Given the description of an element on the screen output the (x, y) to click on. 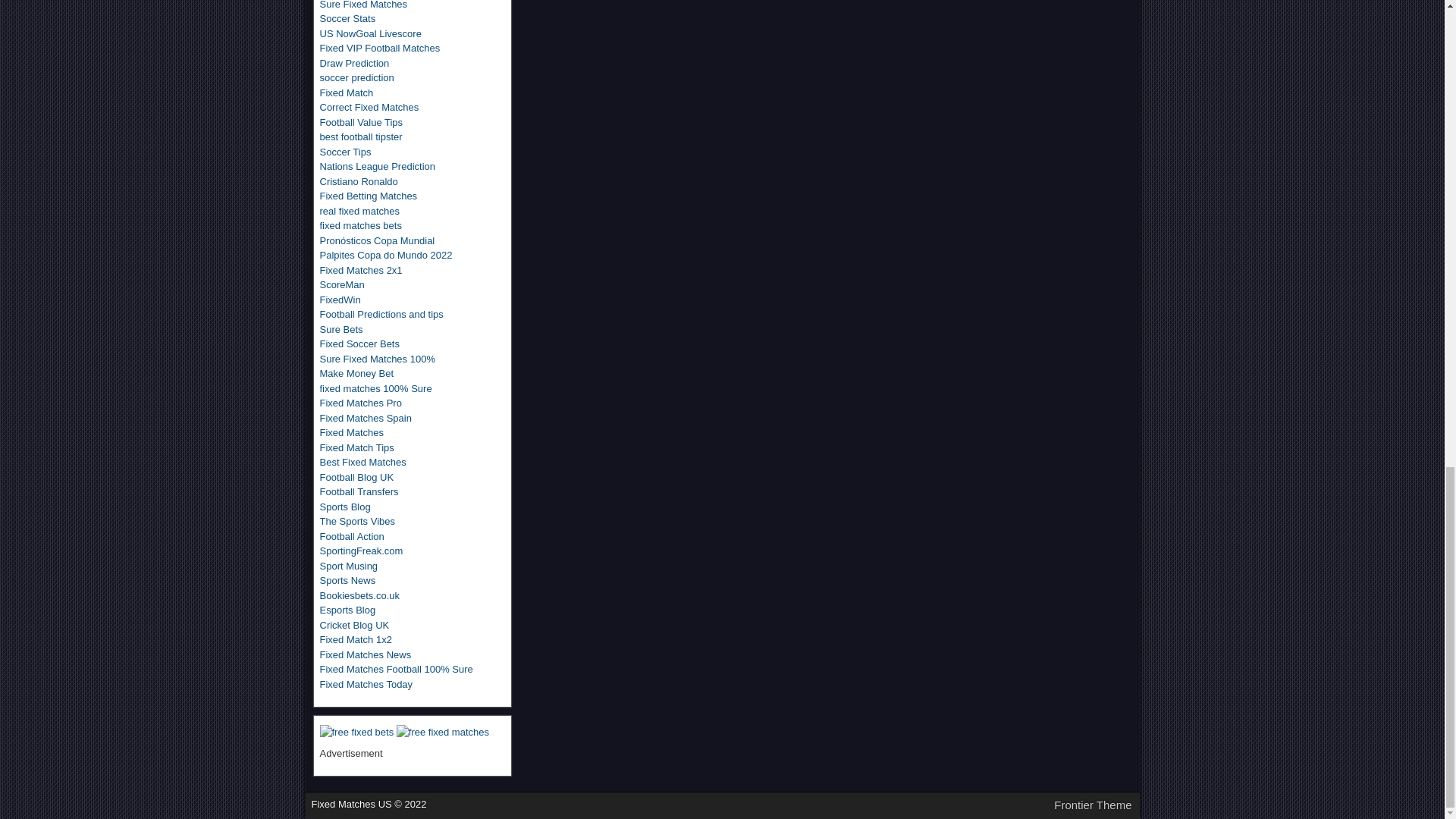
Soccer Stats (347, 18)
Sure Fixed Matches (363, 4)
